Given the description of an element on the screen output the (x, y) to click on. 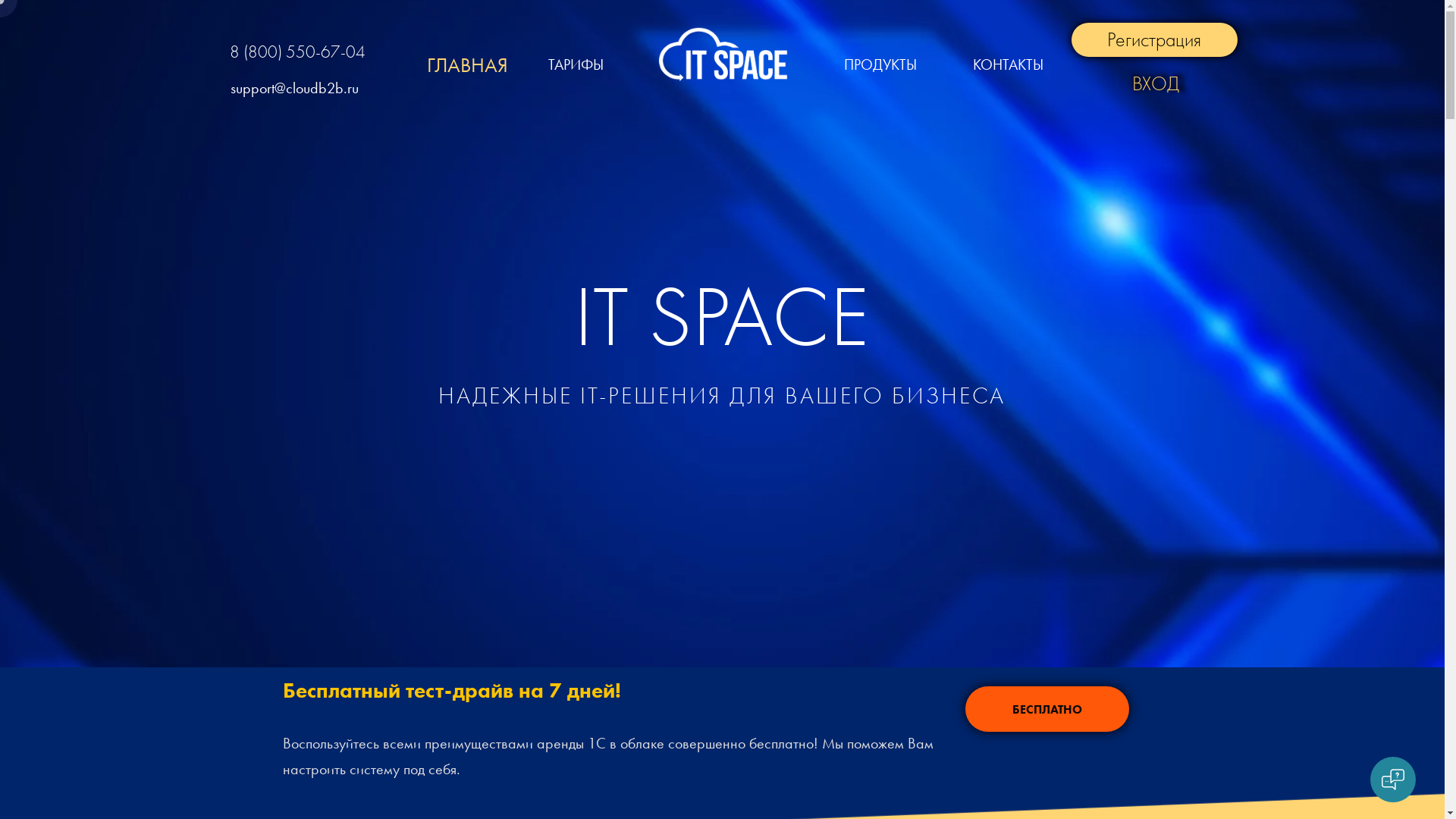
support@cloudb2b.ru Element type: text (294, 87)
